Given the description of an element on the screen output the (x, y) to click on. 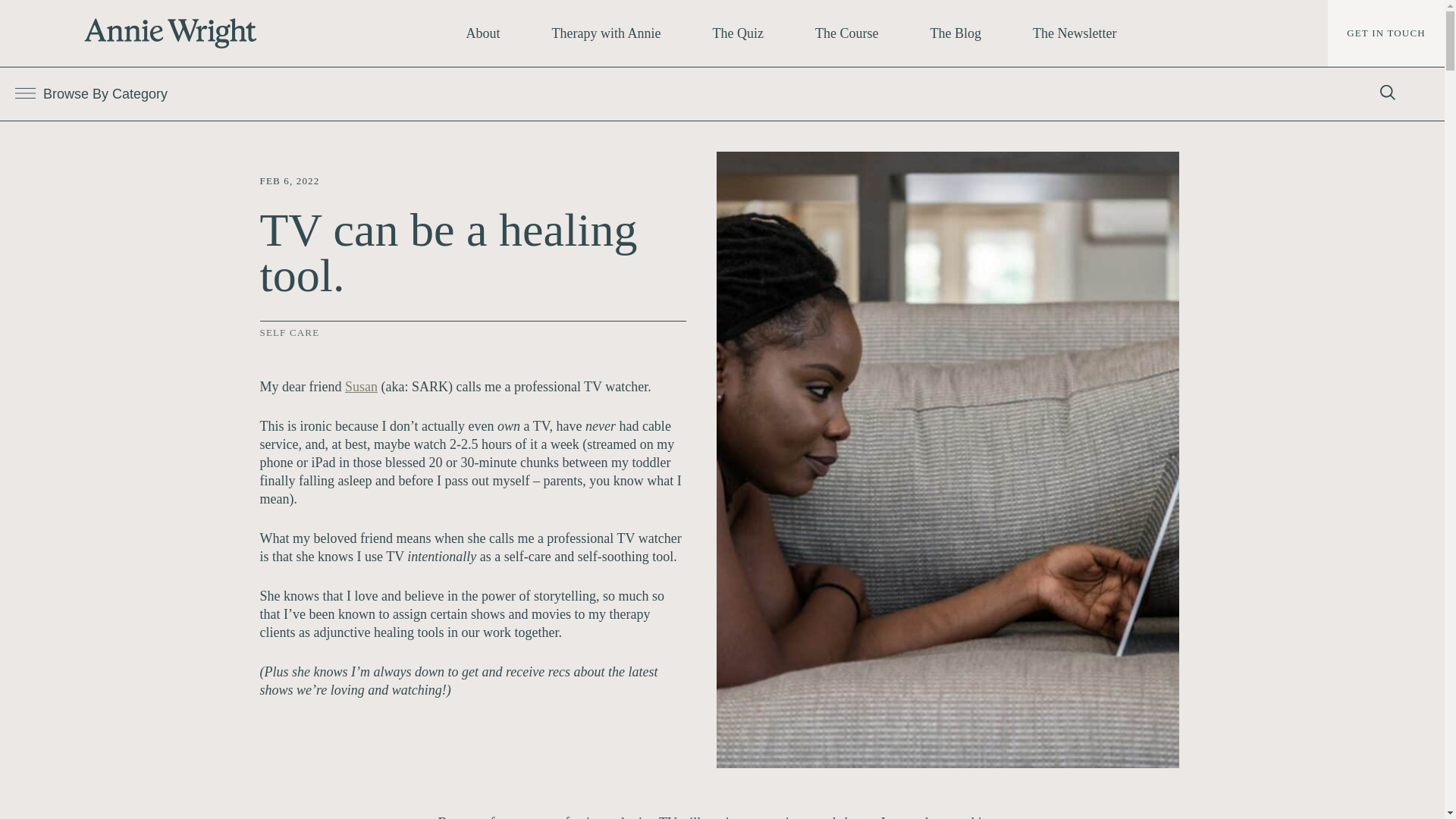
The Quiz (737, 33)
SELF CARE (288, 332)
The Blog (954, 33)
The Course (846, 33)
The Newsletter (1074, 33)
Susan (361, 386)
Therapy with Annie (606, 33)
